Given the description of an element on the screen output the (x, y) to click on. 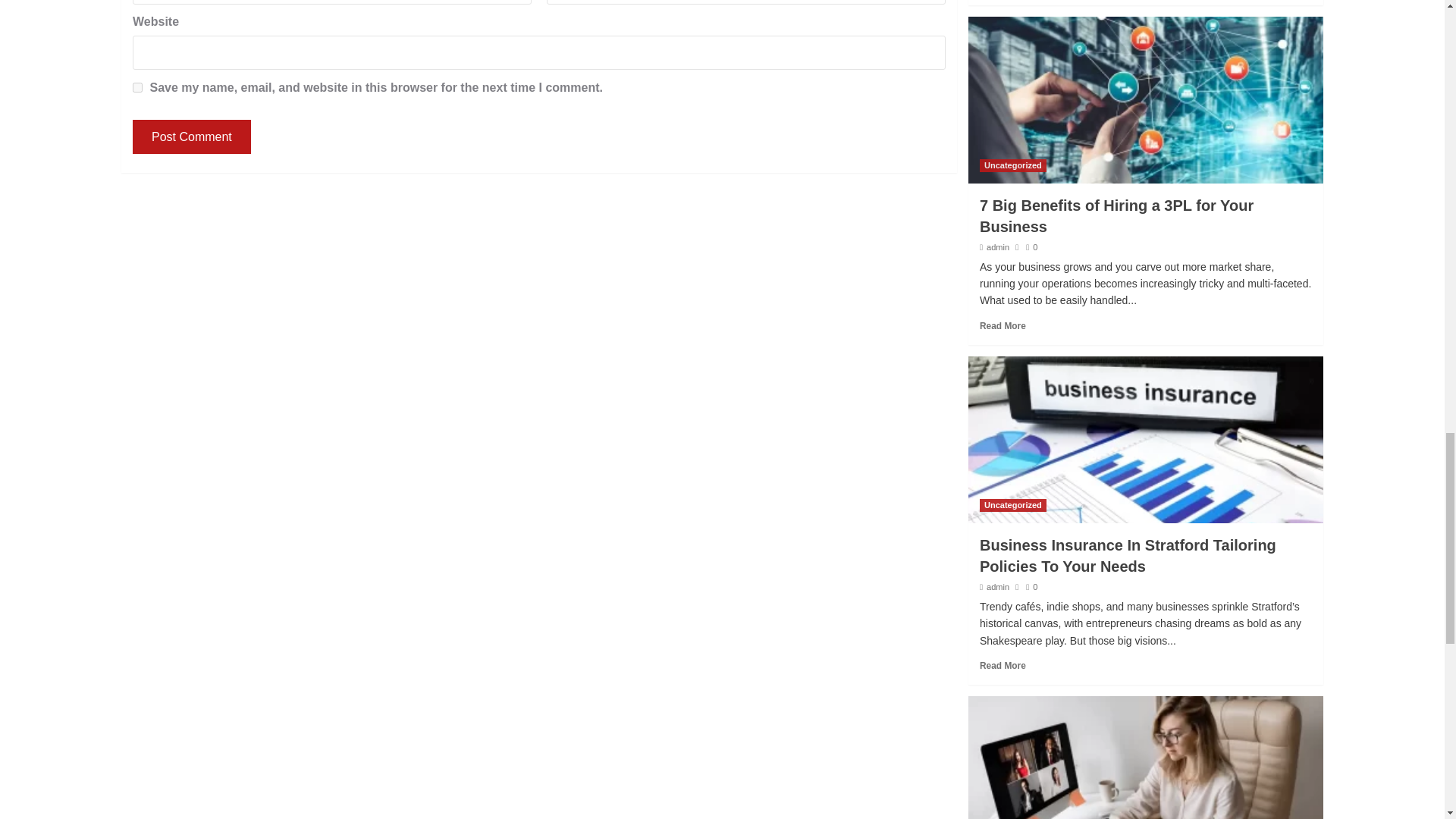
Post Comment (191, 136)
yes (137, 87)
